Given the description of an element on the screen output the (x, y) to click on. 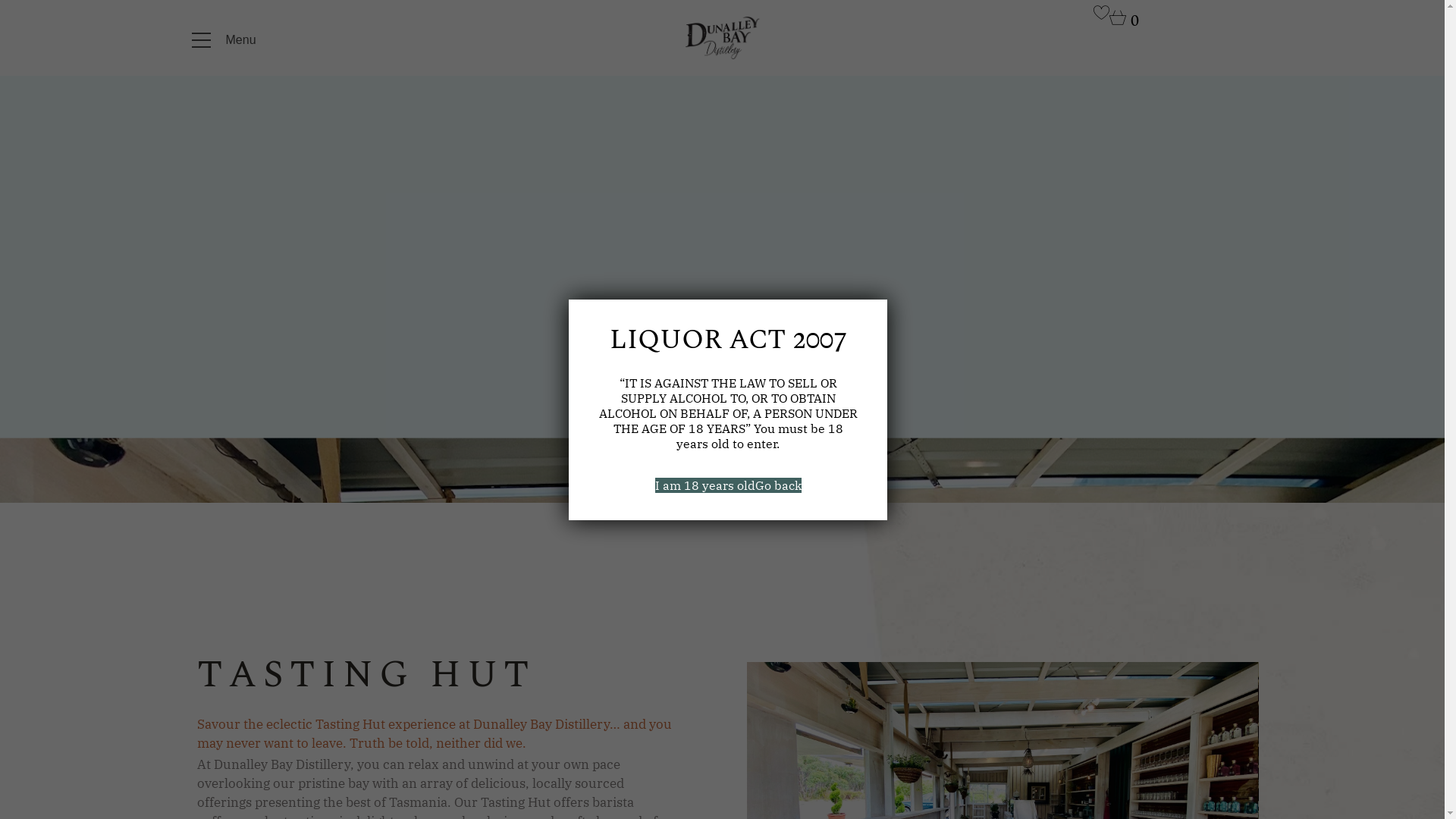
0 Element type: text (1123, 21)
I am 18 years old Element type: text (705, 484)
Go back Element type: text (778, 484)
Menu Element type: text (227, 39)
